Given the description of an element on the screen output the (x, y) to click on. 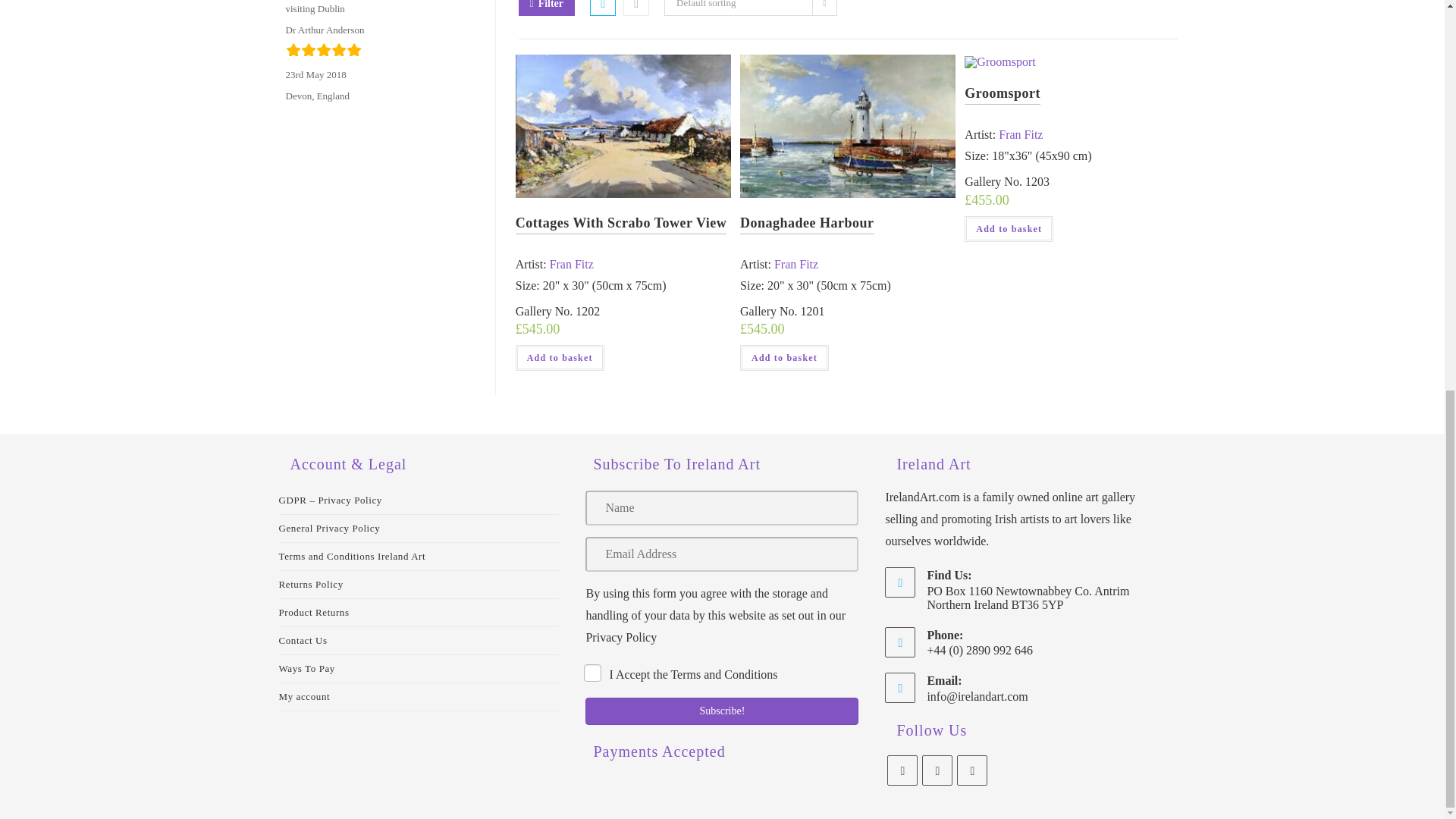
1 (592, 672)
Grid view (602, 7)
List view (636, 7)
